Given the description of an element on the screen output the (x, y) to click on. 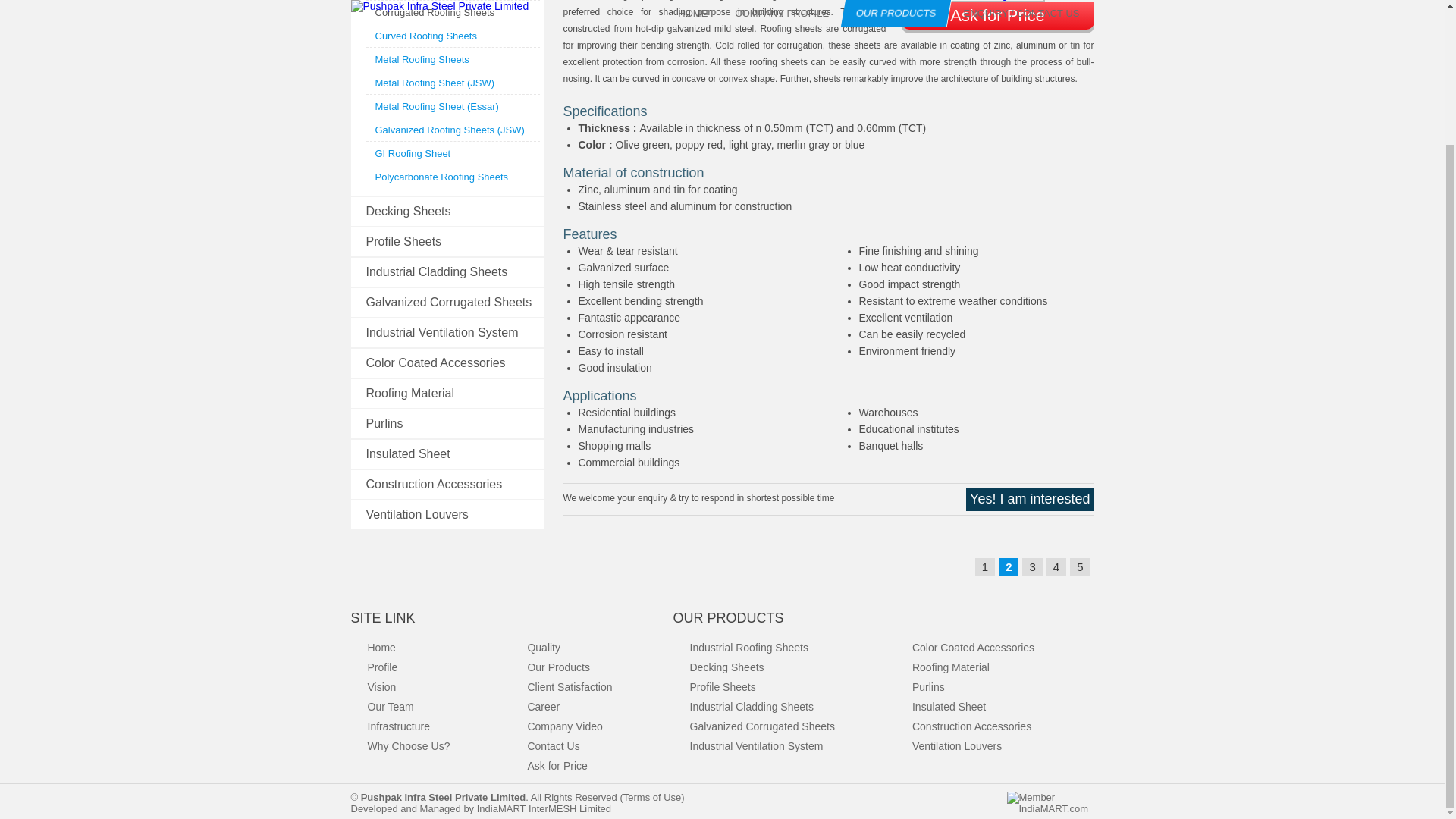
Industrial Ventilation System (441, 332)
Corrugated Roofing Sheets (434, 12)
GI Roofing Sheet (411, 153)
Galvanized Corrugated Sheets (448, 301)
Curved Roofing Sheets (425, 35)
Polycarbonate Roofing Sheets (441, 176)
Profile Sheets (403, 241)
Industrial Cladding Sheets (435, 271)
Decking Sheets (407, 210)
Metal Roofing Sheets (421, 59)
